Given the description of an element on the screen output the (x, y) to click on. 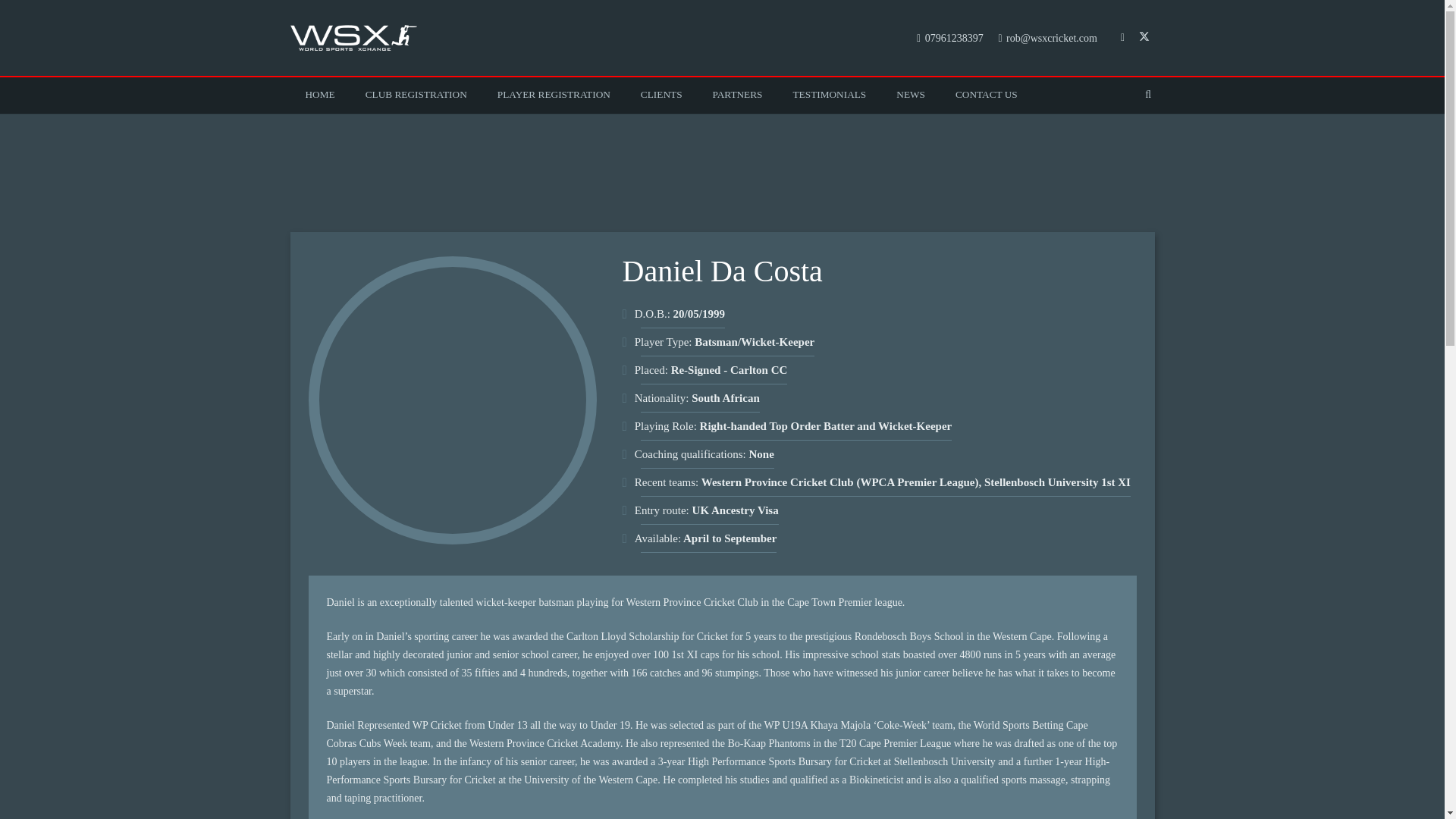
TESTIMONIALS (829, 94)
CLIENTS (661, 94)
CLUB REGISTRATION (415, 94)
HOME (319, 94)
NEWS (910, 94)
PLAYER REGISTRATION (553, 94)
Facebook (1122, 37)
Twitter (1143, 37)
CONTACT US (986, 94)
PARTNERS (737, 94)
